Given the description of an element on the screen output the (x, y) to click on. 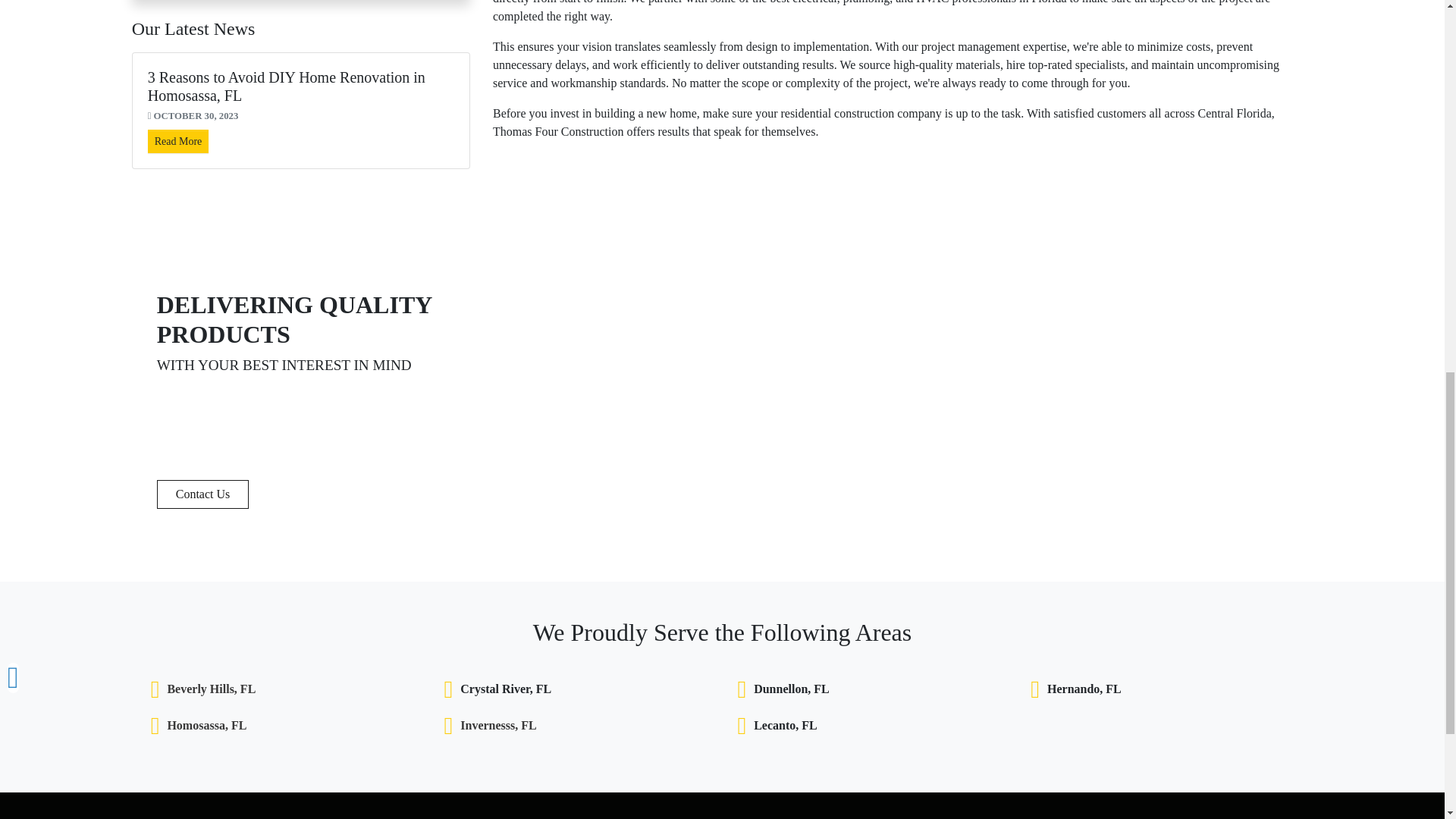
Beverly Hills, FL (211, 689)
Invernesss, FL (497, 725)
Contact Us (202, 493)
Read More (178, 141)
Homosassa, FL (206, 725)
